Given the description of an element on the screen output the (x, y) to click on. 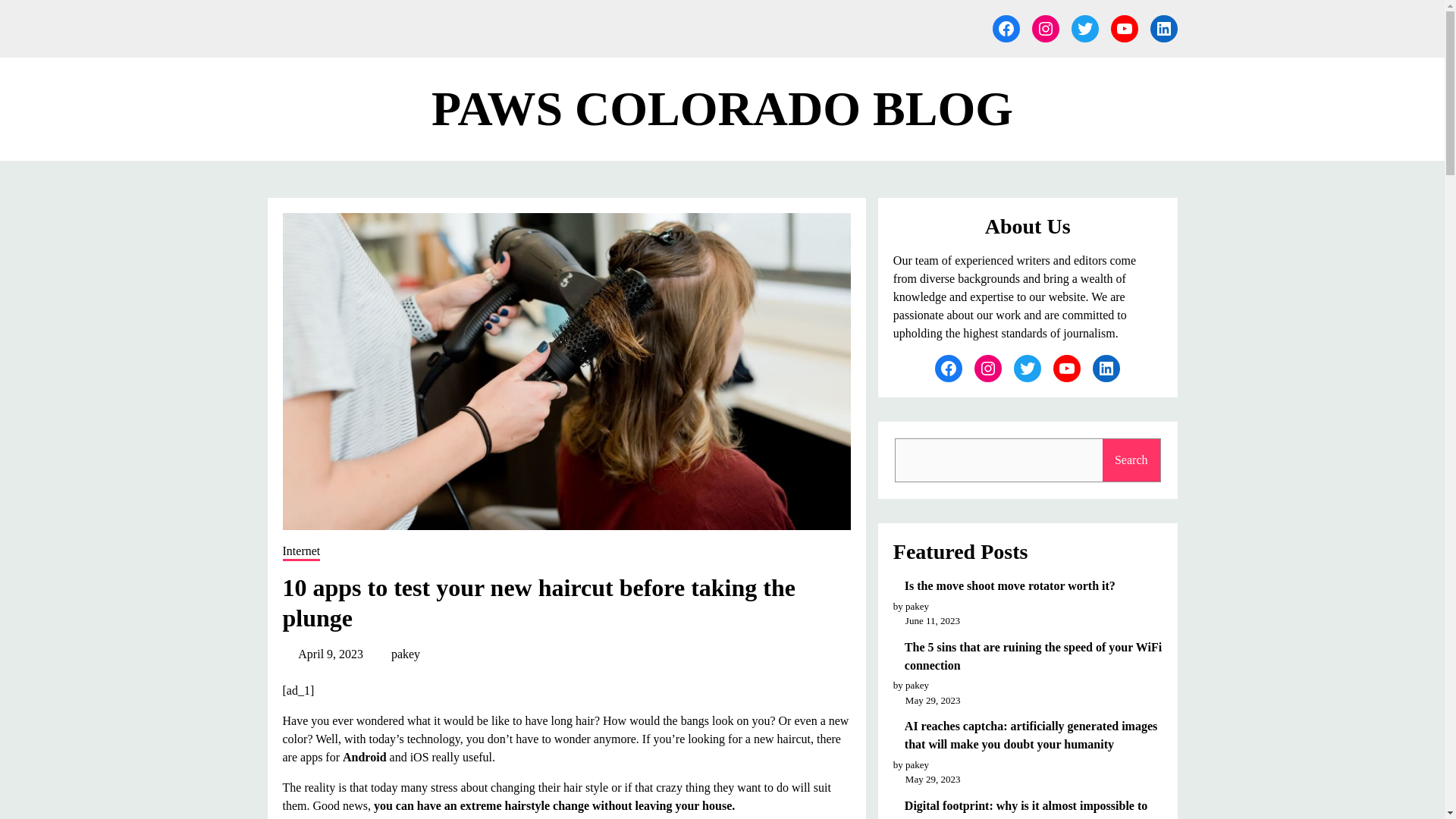
Twitter (1083, 28)
Facebook (1005, 28)
Internet (301, 552)
Search (1131, 459)
Instagram (987, 368)
LinkedIn (1163, 28)
Is the move shoot move rotator worth it? (1032, 586)
PAWS COLORADO BLOG (721, 108)
YouTube (1123, 28)
